Given the description of an element on the screen output the (x, y) to click on. 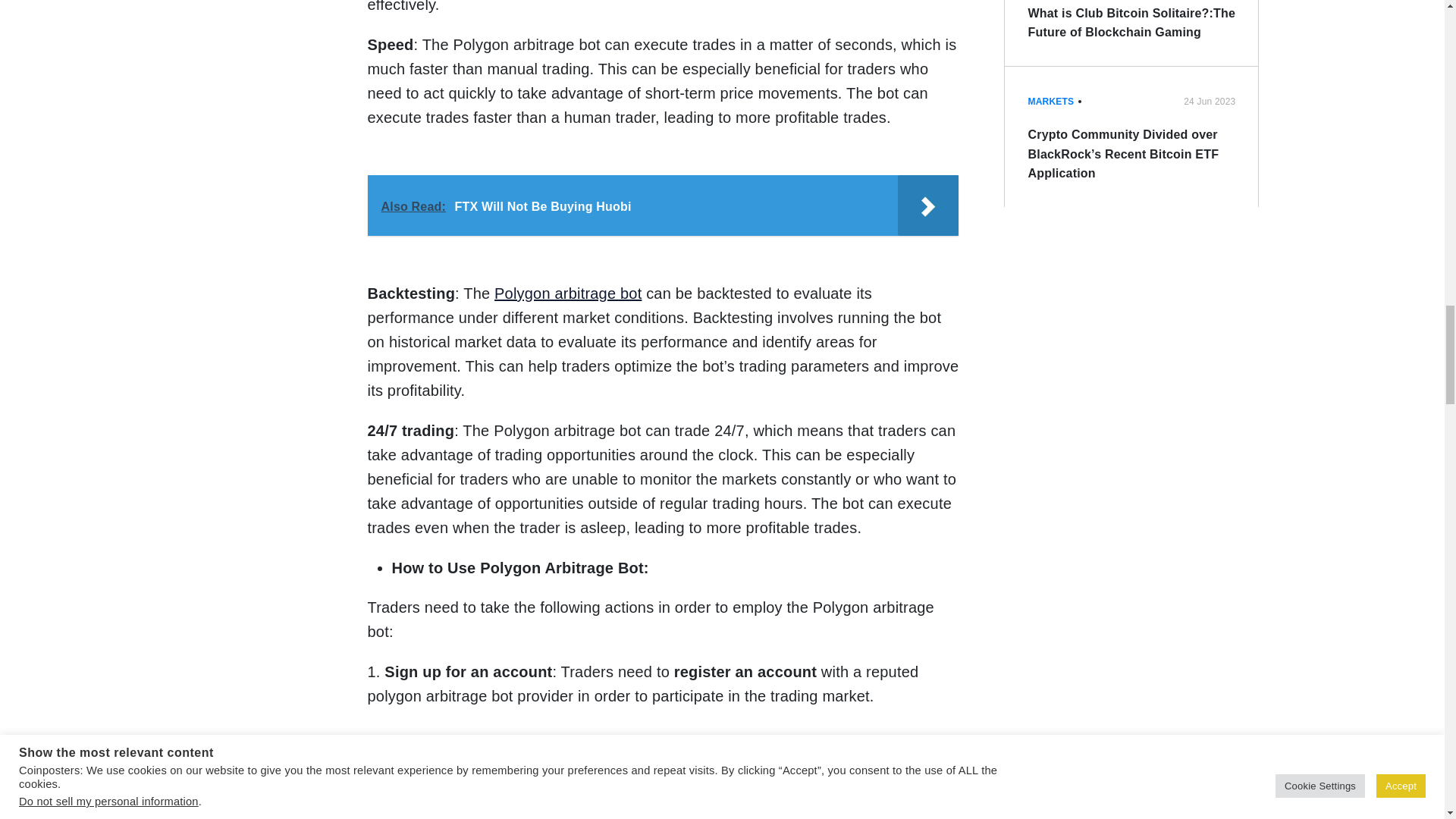
Also Read:  FTX Will Not Be Buying Huobi (662, 205)
Polygon arbitrage bot (568, 293)
